Given the description of an element on the screen output the (x, y) to click on. 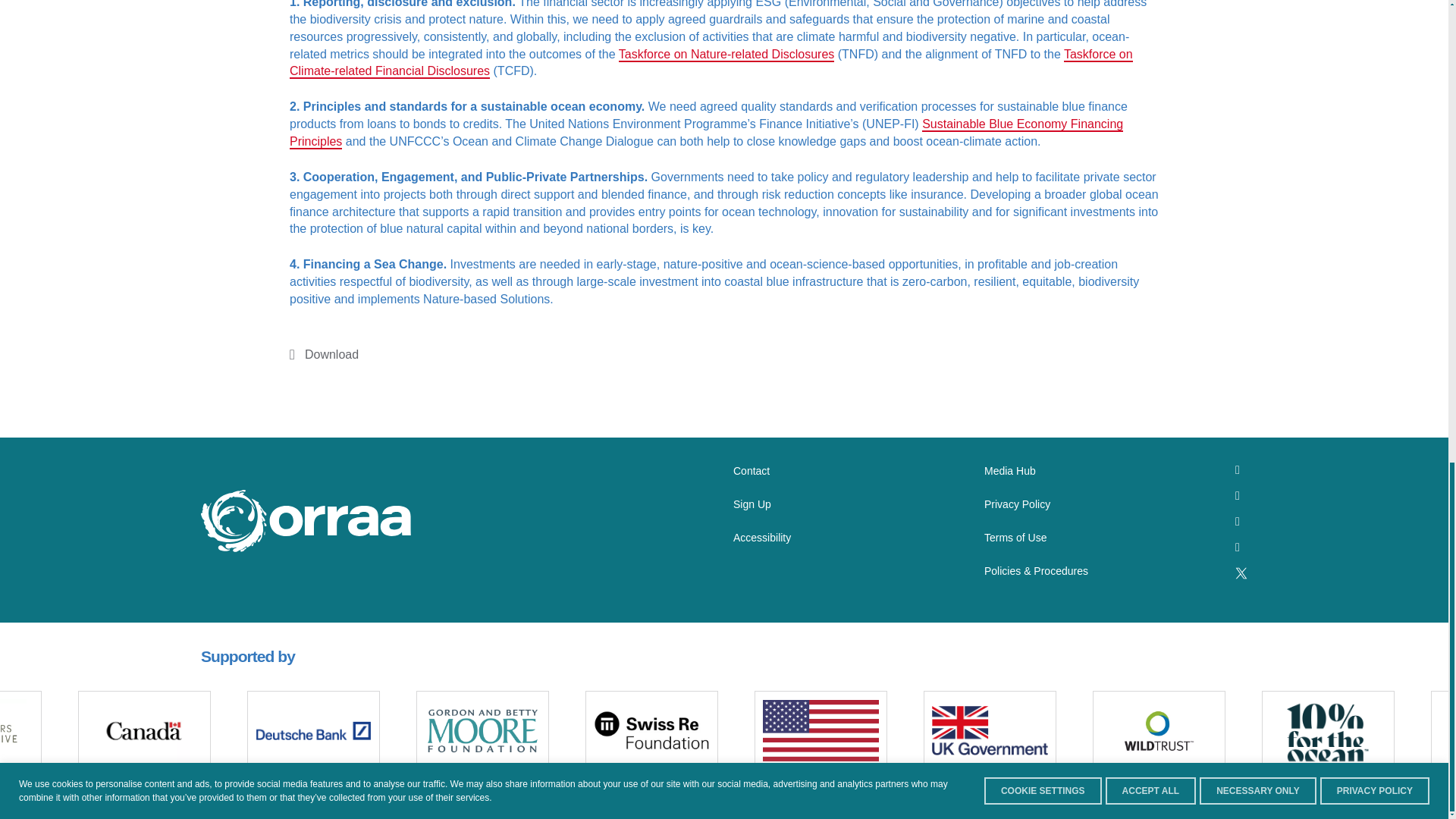
Terms of Use (1015, 537)
Taskforce on Nature-related Disclosures (726, 53)
Taskforce on Climate-related Financial Disclosures (710, 62)
Sign Up (752, 503)
Media Hub (1009, 470)
Privacy Policy (1016, 503)
Accessibility (761, 537)
Download (323, 354)
Contact (751, 470)
Sustainable Blue Economy Financing Principles (705, 132)
